Given the description of an element on the screen output the (x, y) to click on. 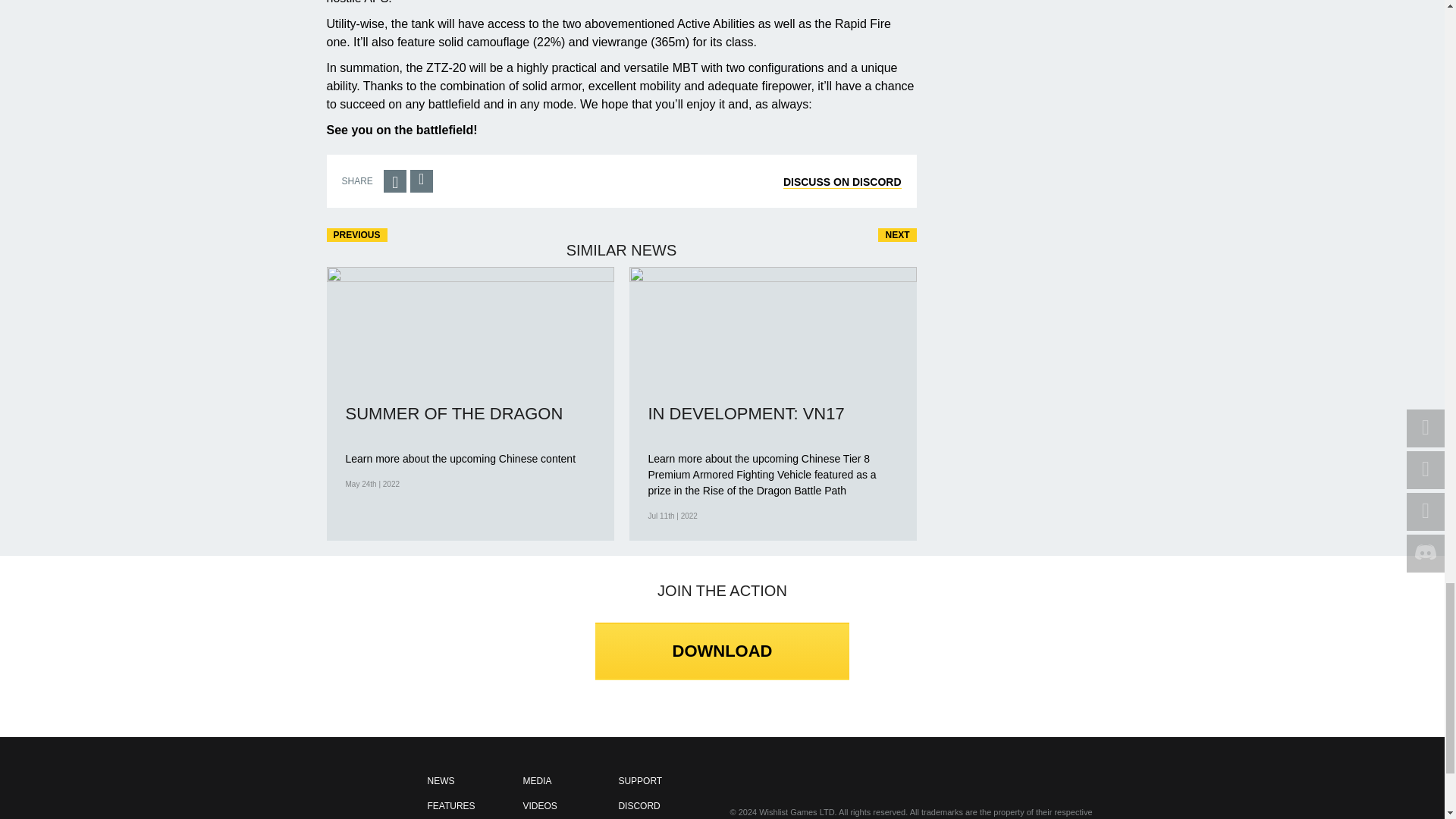
DISCUSS ON DISCORD (842, 182)
NEXT (896, 234)
PREVIOUS (356, 234)
